Given the description of an element on the screen output the (x, y) to click on. 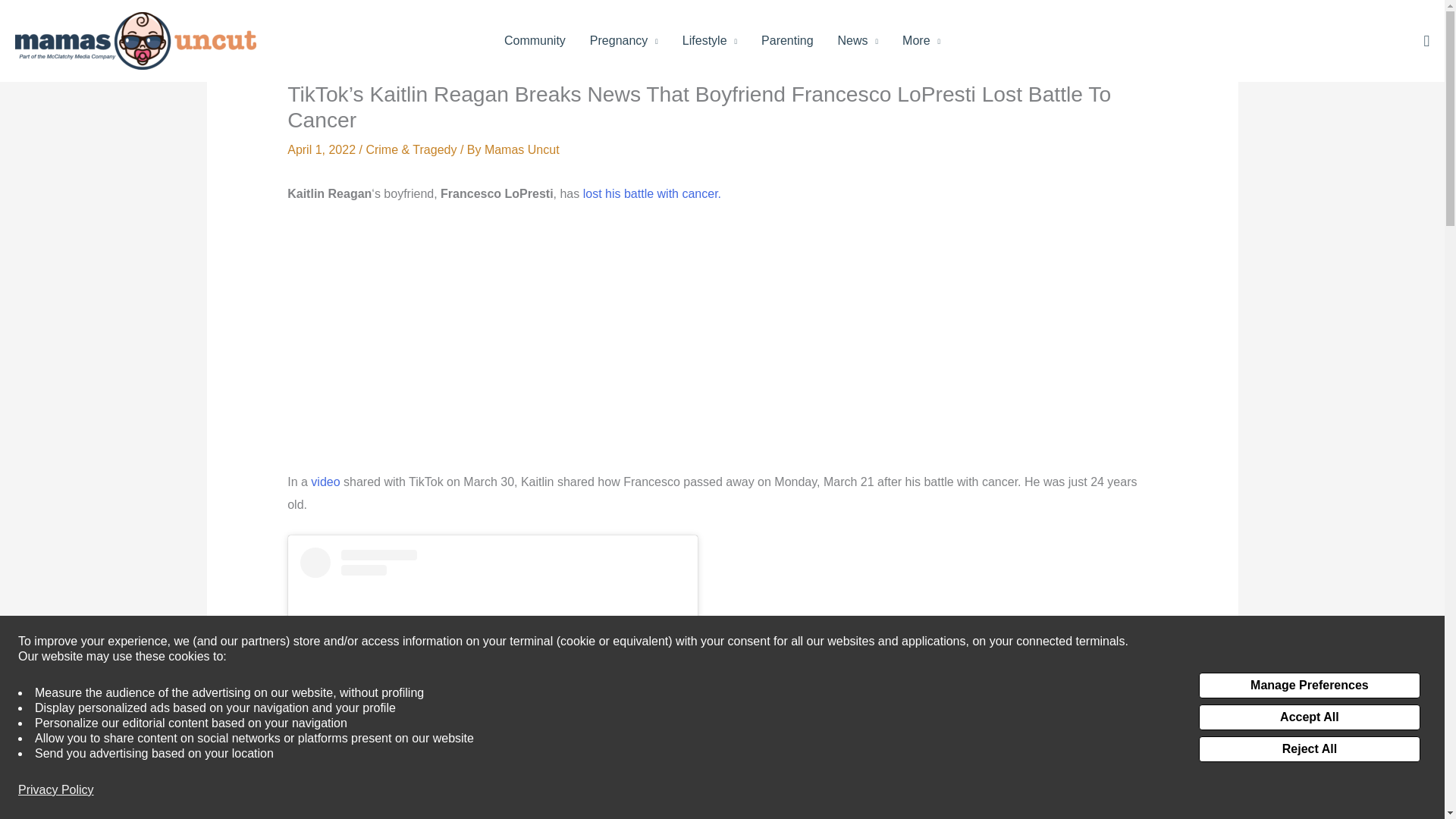
Privacy Policy (55, 789)
View all posts by Mamas Uncut (521, 149)
Manage Preferences (1309, 685)
Community (535, 40)
News (858, 40)
Reject All (1309, 749)
Accept All (1309, 717)
YouTube video player (498, 343)
Parenting (787, 40)
Lifestyle (709, 40)
